Given the description of an element on the screen output the (x, y) to click on. 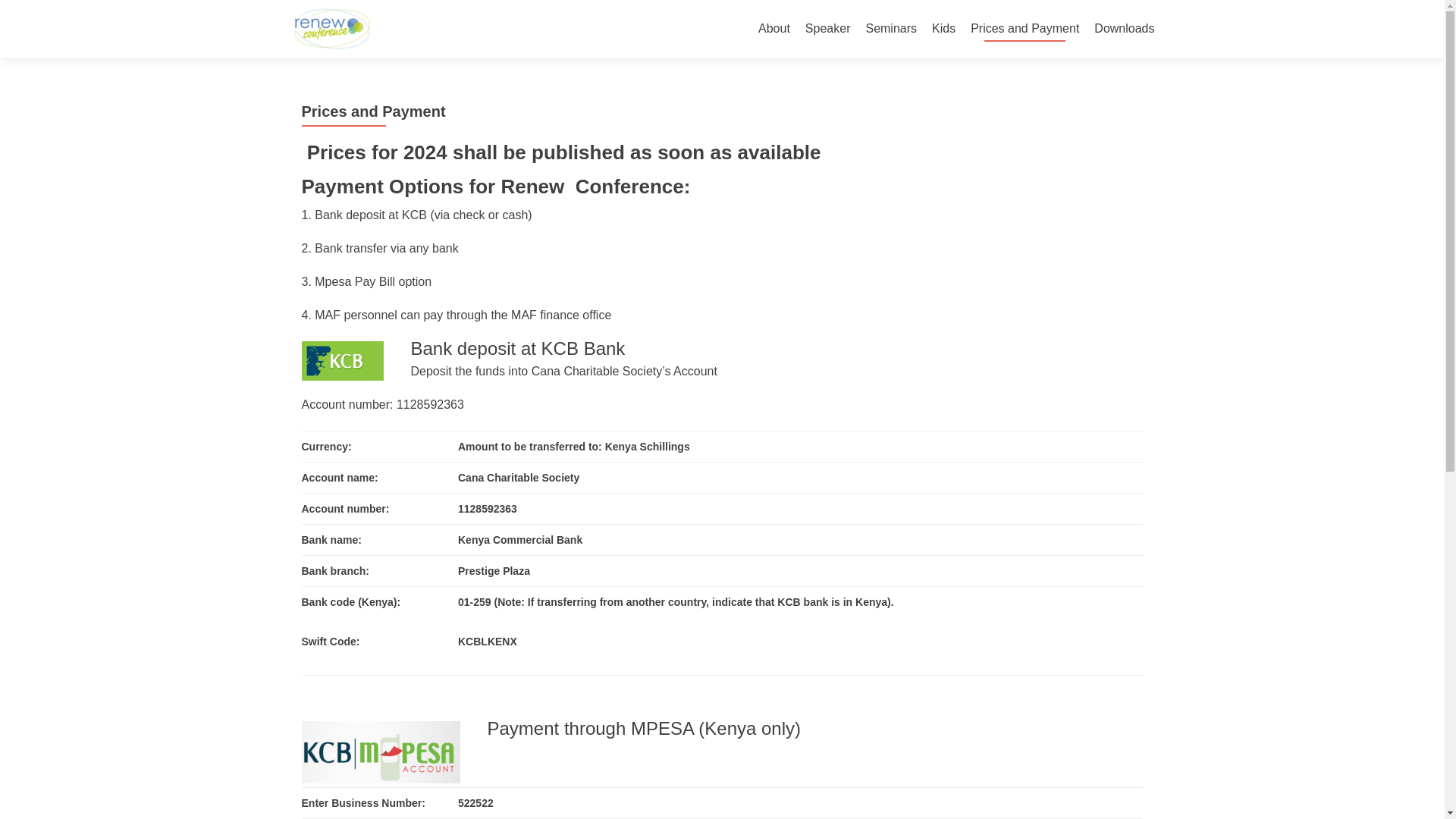
Prices and Payment (1024, 28)
About (774, 28)
Downloads (1124, 28)
Seminars (890, 28)
Speaker (827, 28)
